Given the description of an element on the screen output the (x, y) to click on. 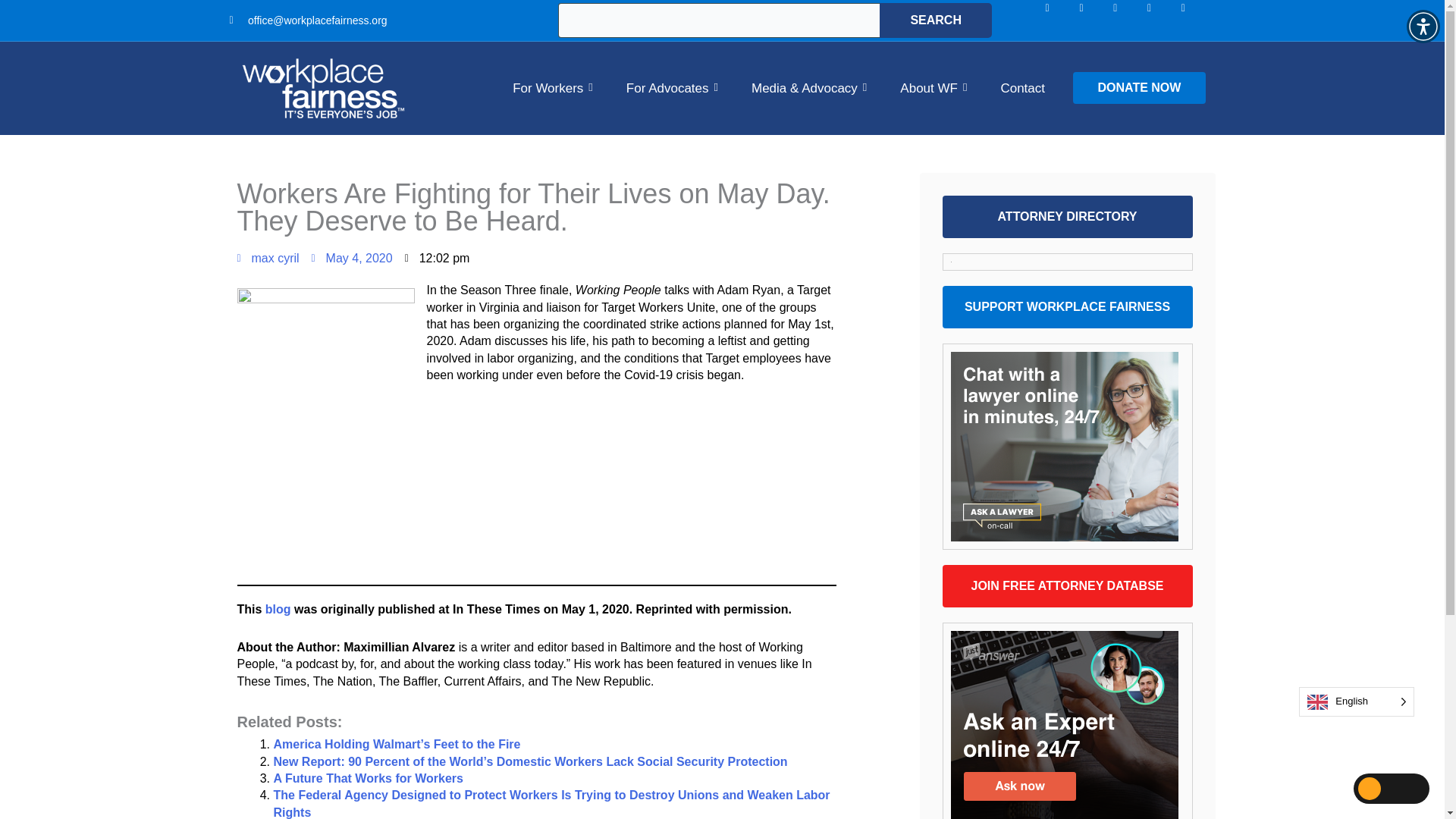
Accessibility Menu (1422, 26)
Instagram (1092, 19)
Search (935, 20)
A Future That Works for Workers (368, 778)
Search (935, 20)
For Workers (552, 88)
Linkedin (1126, 19)
Youtube (1194, 19)
app-stitcher (535, 507)
Twitter (1160, 19)
Facebook-f (1058, 19)
Search (935, 20)
